Given the description of an element on the screen output the (x, y) to click on. 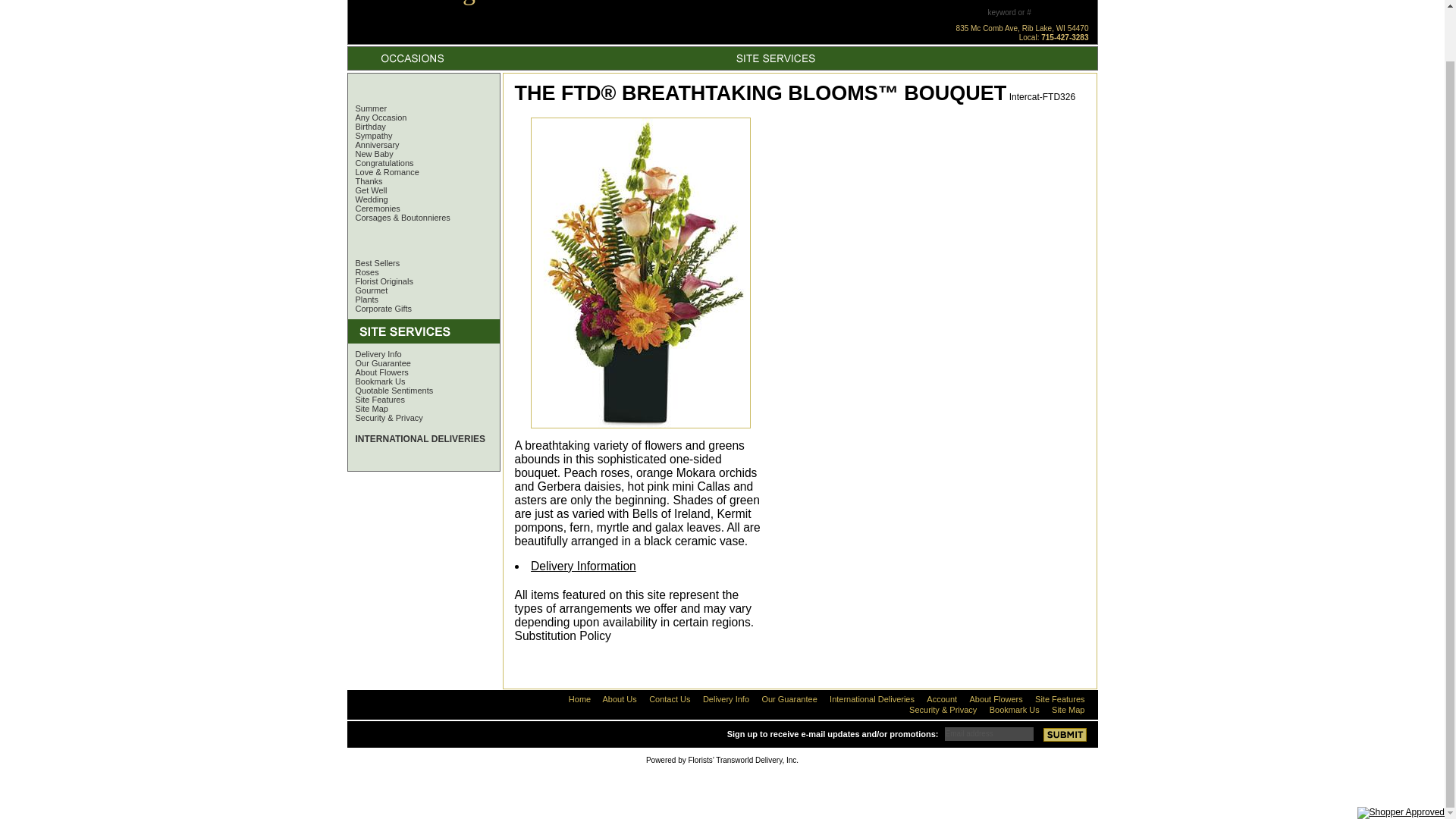
Summer (367, 108)
Email address (988, 733)
